Given the description of an element on the screen output the (x, y) to click on. 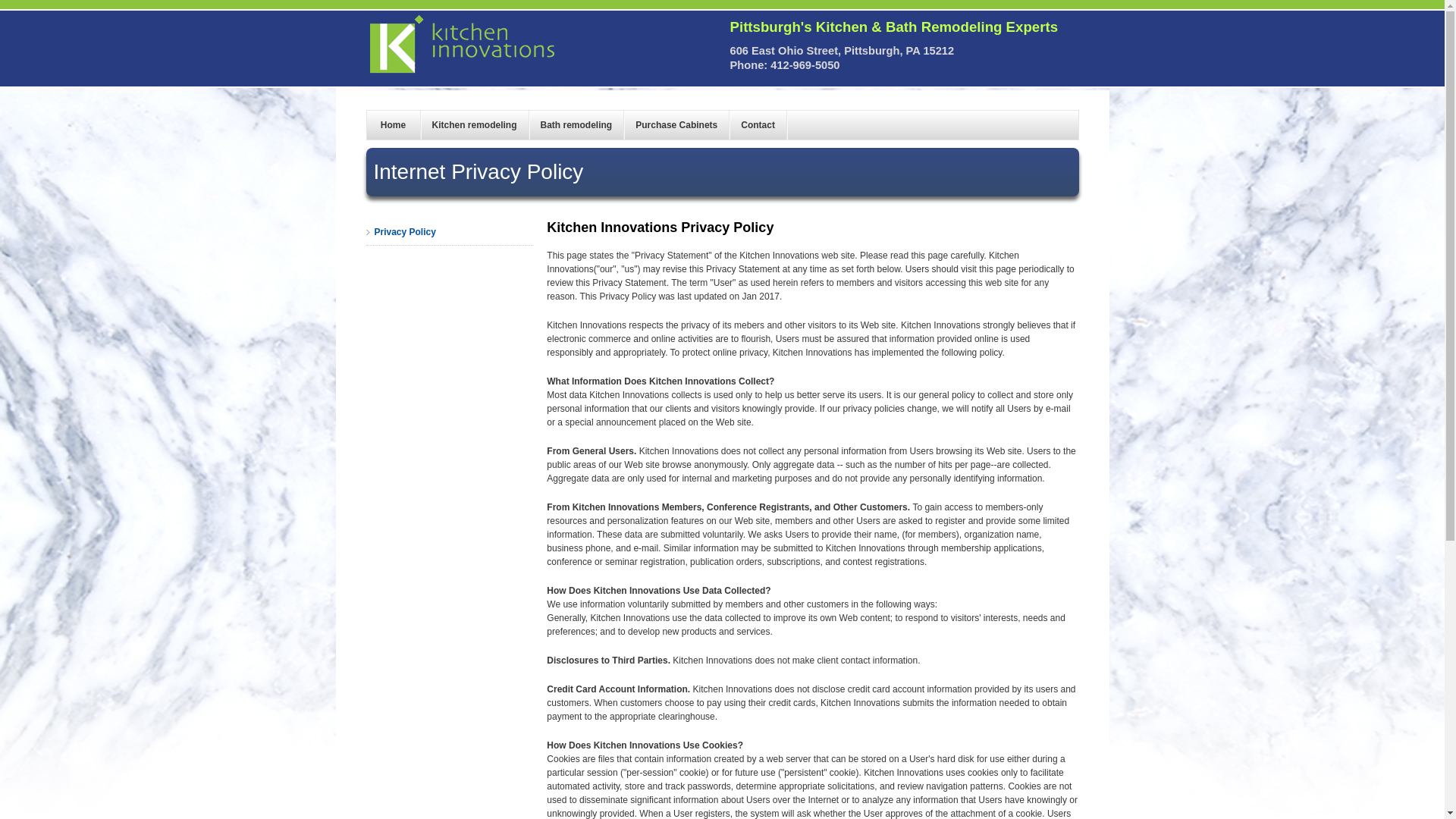
Kitchen remodeling (474, 124)
Home (392, 124)
Bath remodeling (576, 124)
Purchase Cabinets (676, 124)
Privacy Policy (448, 231)
Contact (758, 124)
